Given the description of an element on the screen output the (x, y) to click on. 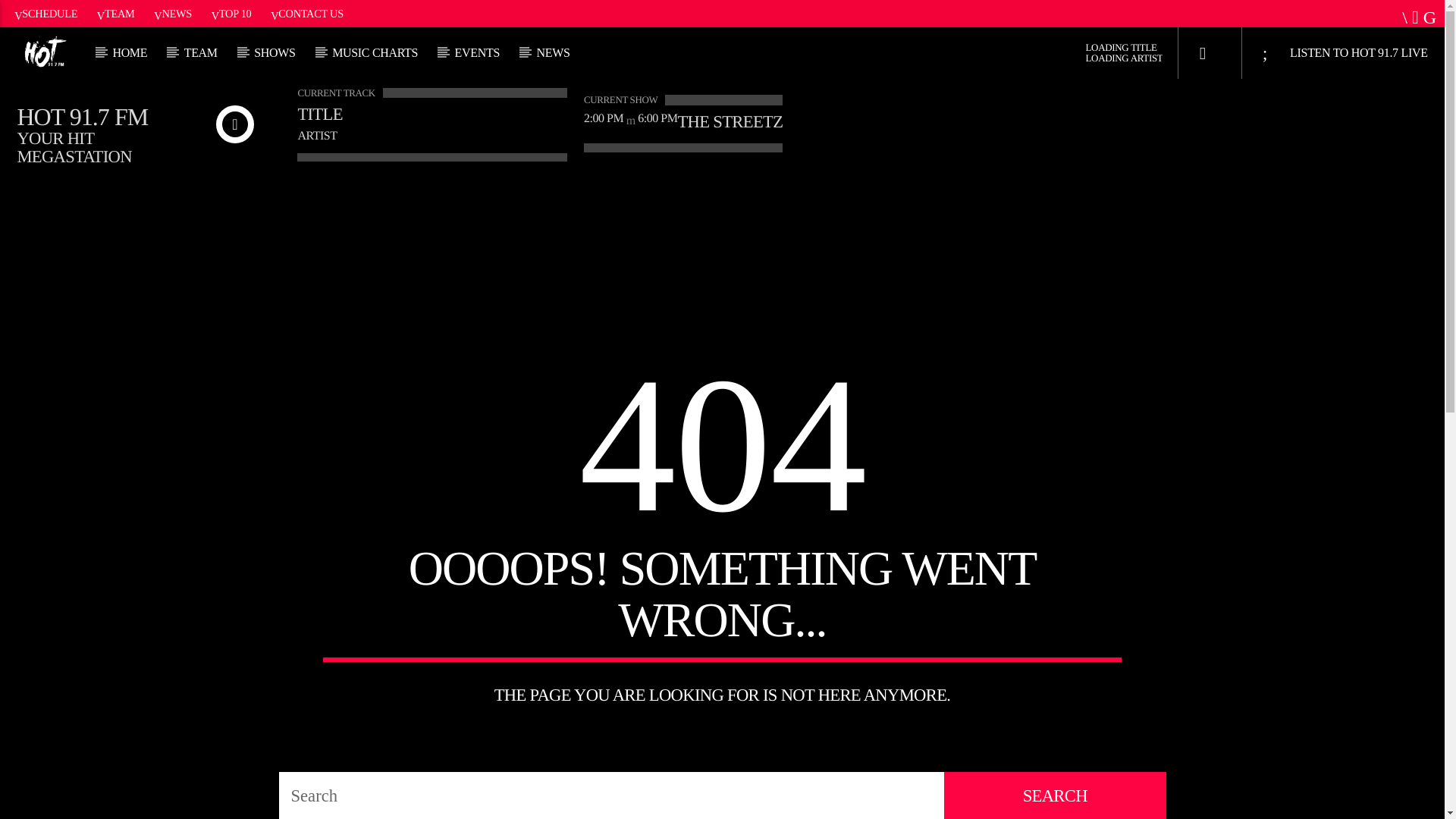
Search (1203, 189)
NEWS (173, 13)
TEAM (115, 13)
TOP 10 (231, 13)
SCHEDULE (45, 13)
NEWS (552, 52)
MUSIC CHARTS (375, 52)
THE STREETZ (730, 122)
TEAM (200, 52)
SHOWS (275, 52)
HOME (130, 52)
EVENTS (477, 52)
CONTACT US (306, 13)
Search (1054, 795)
